Given the description of an element on the screen output the (x, y) to click on. 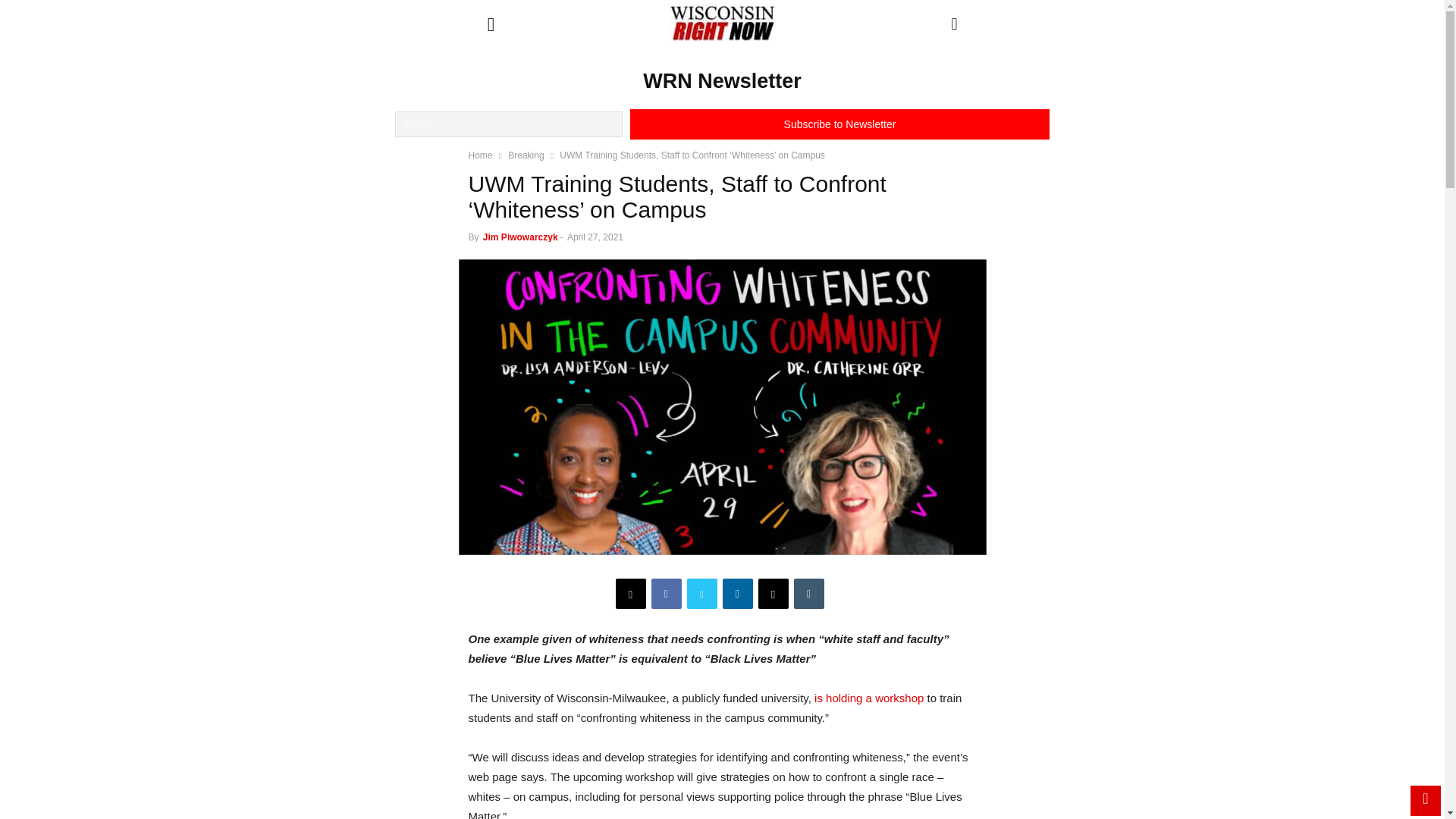
is holding a workshop (868, 697)
Breaking (525, 154)
View all posts in Breaking (525, 154)
Wisconsin Right Now (721, 22)
Email (773, 593)
Subscribe to Newsletter (839, 123)
Print (630, 593)
Tumblr (808, 593)
Facebook (665, 593)
Linkedin (737, 593)
